Given the description of an element on the screen output the (x, y) to click on. 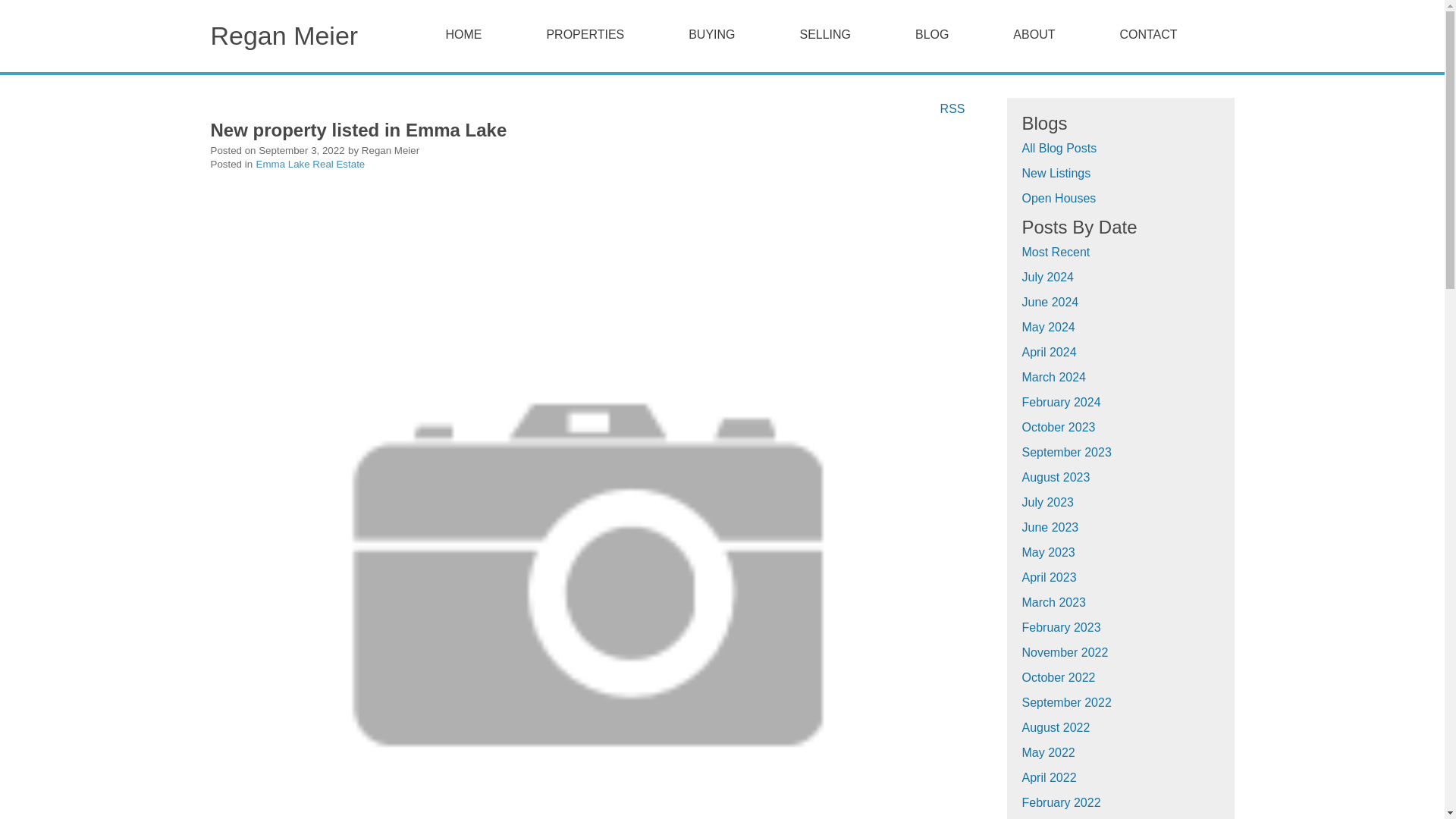
May 2024 (1048, 327)
All Blog Posts (1059, 147)
SELLING (825, 34)
RSS (952, 107)
CONTACT (1172, 34)
March 2024 (1054, 377)
BUYING (711, 34)
February 2024 (1061, 401)
Most Recent (1056, 251)
September 2023 (1067, 451)
New Listings (1056, 173)
April 2024 (1049, 351)
BLOG (956, 34)
June 2024 (1050, 301)
August 2023 (1056, 477)
